Given the description of an element on the screen output the (x, y) to click on. 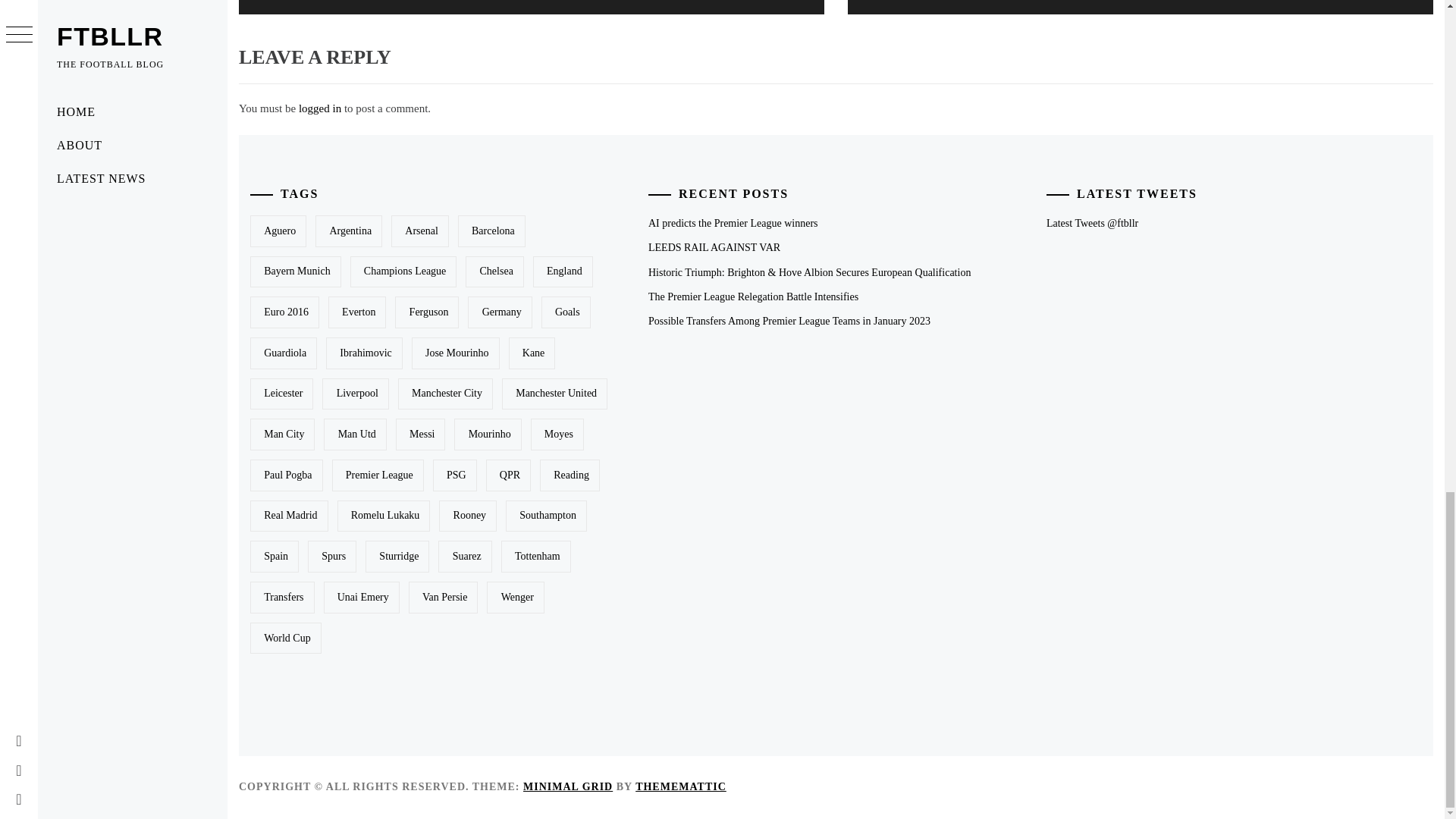
Bayern Munich (1139, 7)
logged in (295, 272)
Argentina (319, 108)
Champions League (348, 231)
Arsenal (403, 272)
Aguero (419, 231)
Barcelona (277, 231)
